Given the description of an element on the screen output the (x, y) to click on. 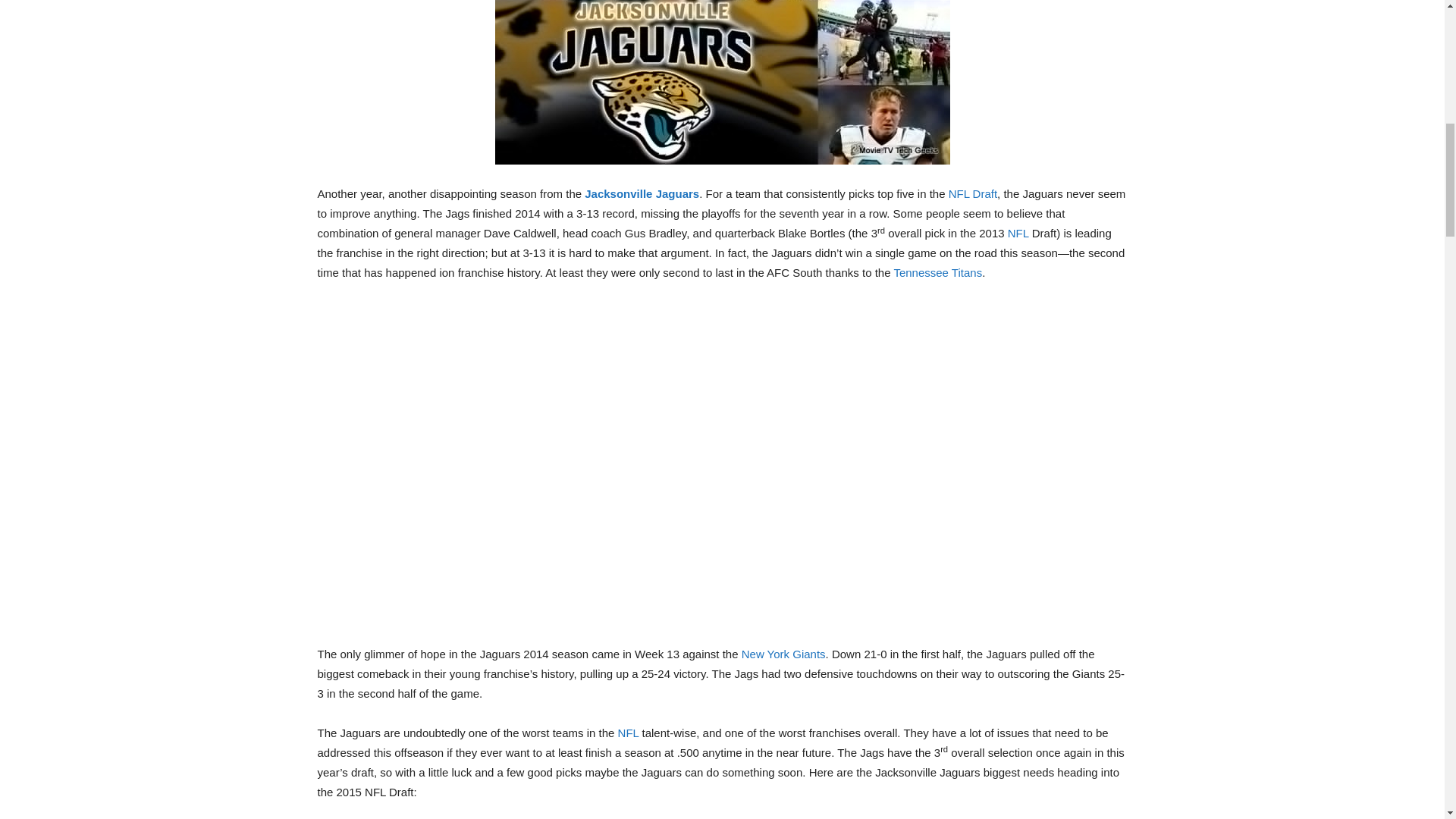
National Football League (628, 732)
Jacksonville Jaguars (641, 193)
National Football League Draft (973, 193)
